Given the description of an element on the screen output the (x, y) to click on. 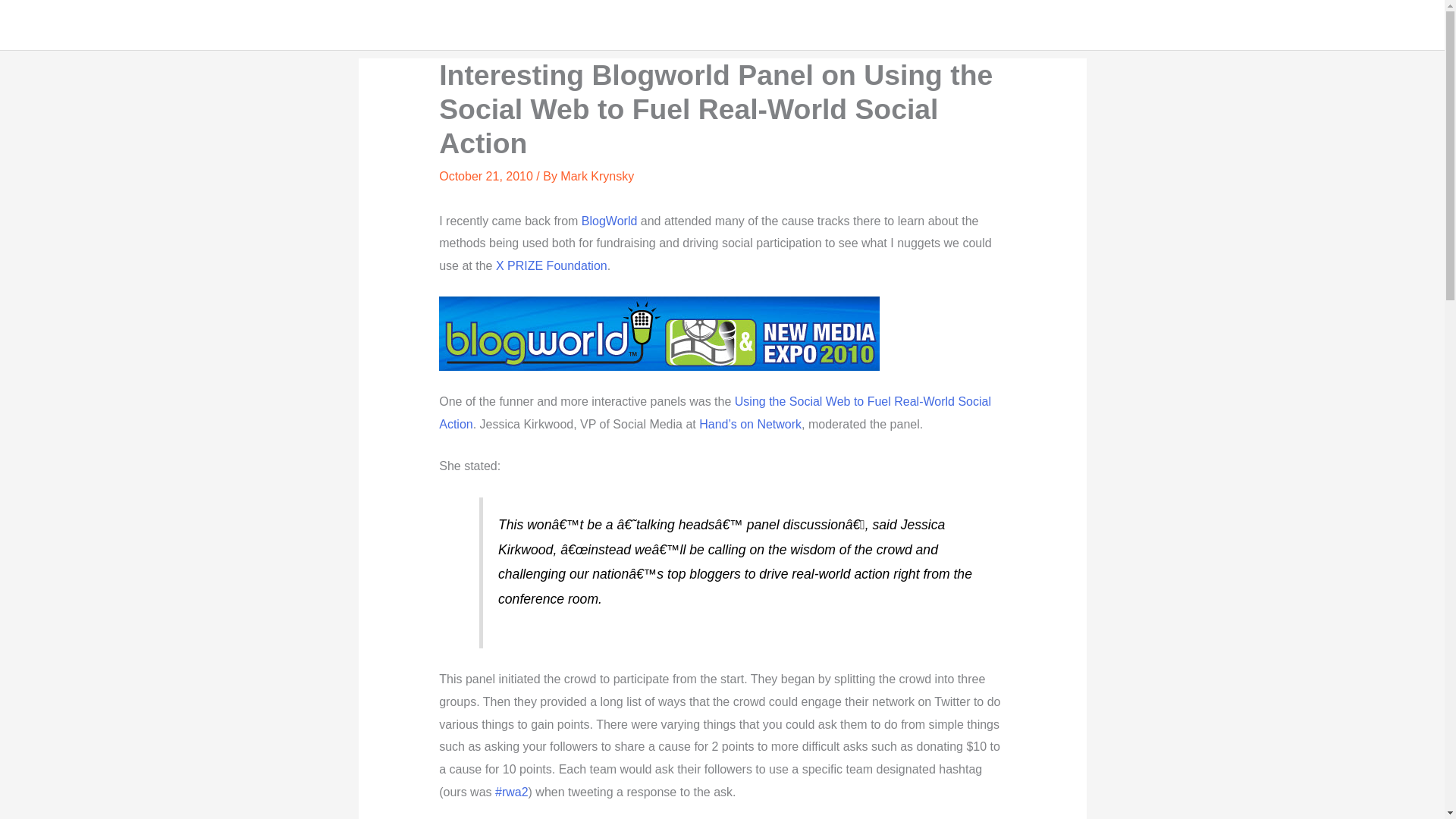
Mark Krynsky (596, 175)
Poetry (1242, 24)
View all posts by Mark Krynsky (596, 175)
X PRIZE Foundation (551, 265)
Using the Social Web to Fuel Real-World Social Action (715, 412)
Blog (1186, 24)
BlogWorld (608, 220)
About (1369, 24)
Legacy (1306, 24)
KRYNSKY.COM (93, 24)
